Given the description of an element on the screen output the (x, y) to click on. 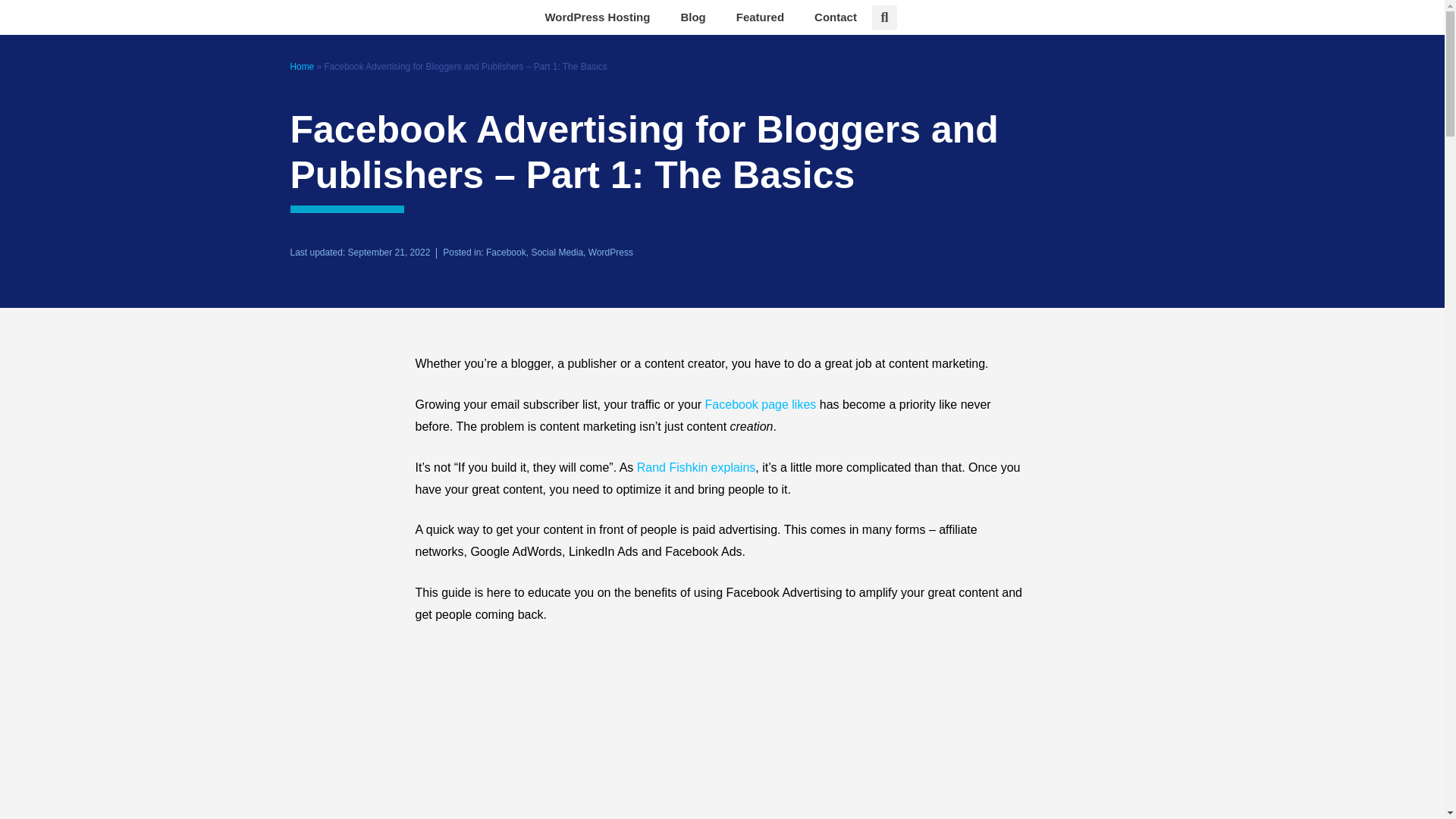
Featured (759, 17)
WordPress (610, 252)
WordPress Hosting (597, 17)
Facebook page likes (760, 404)
Facebook (505, 252)
Social Media (557, 252)
Why Content Marketing Fails (696, 467)
Blog (692, 17)
Contact (835, 17)
best WordPress hosting (597, 17)
